Given the description of an element on the screen output the (x, y) to click on. 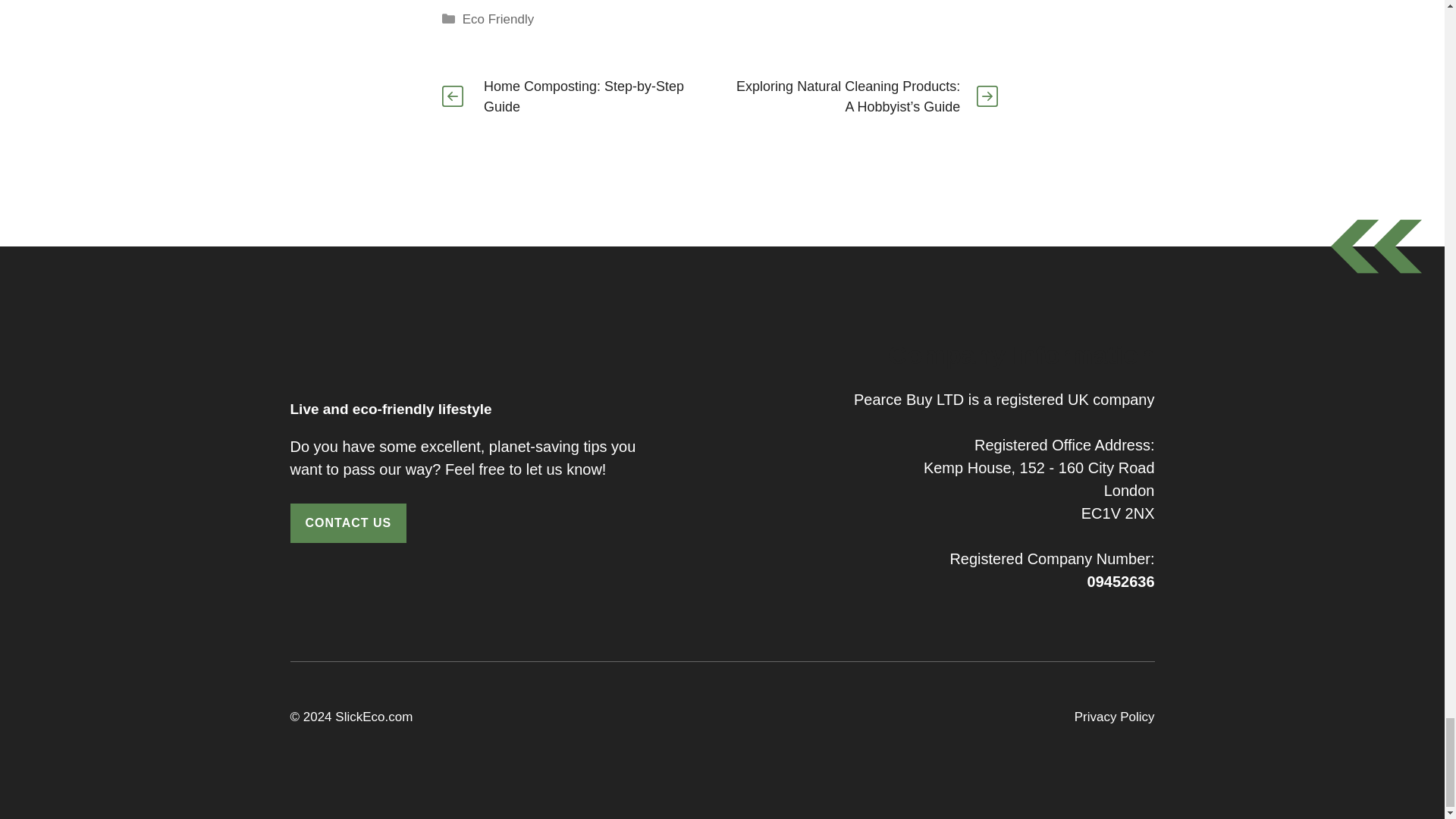
Home Composting: Step-by-Step Guide (583, 96)
CONTACT US (347, 522)
Eco Friendly (498, 19)
